Given the description of an element on the screen output the (x, y) to click on. 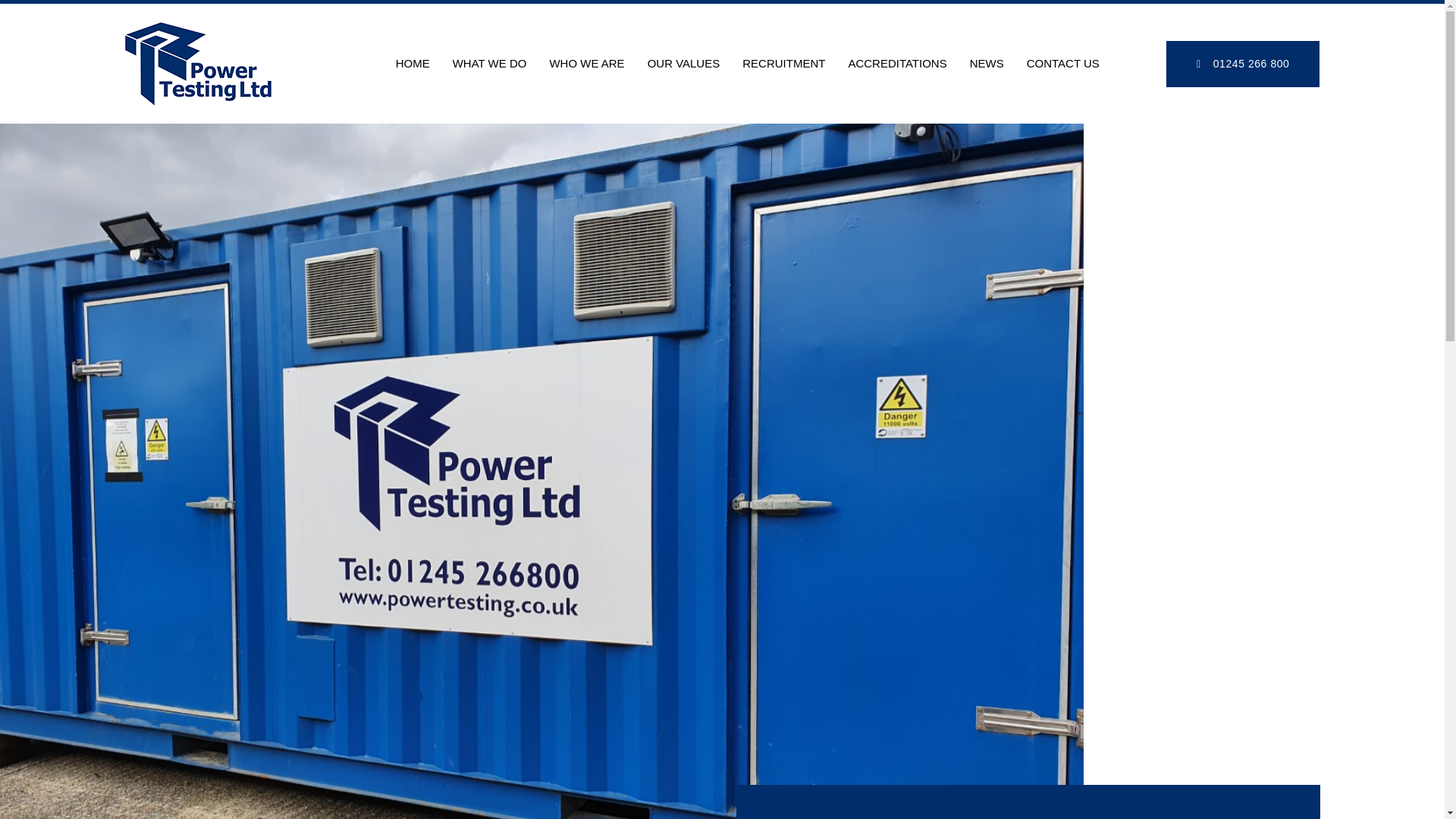
WHAT WE DO (489, 63)
NEWS (986, 63)
CONTACT US (1056, 63)
HOME (412, 63)
OUR VALUES (684, 63)
ACCREDITATIONS (896, 63)
WHO WE ARE (585, 63)
RECRUITMENT (782, 63)
01245 266 800 (1242, 63)
